Given the description of an element on the screen output the (x, y) to click on. 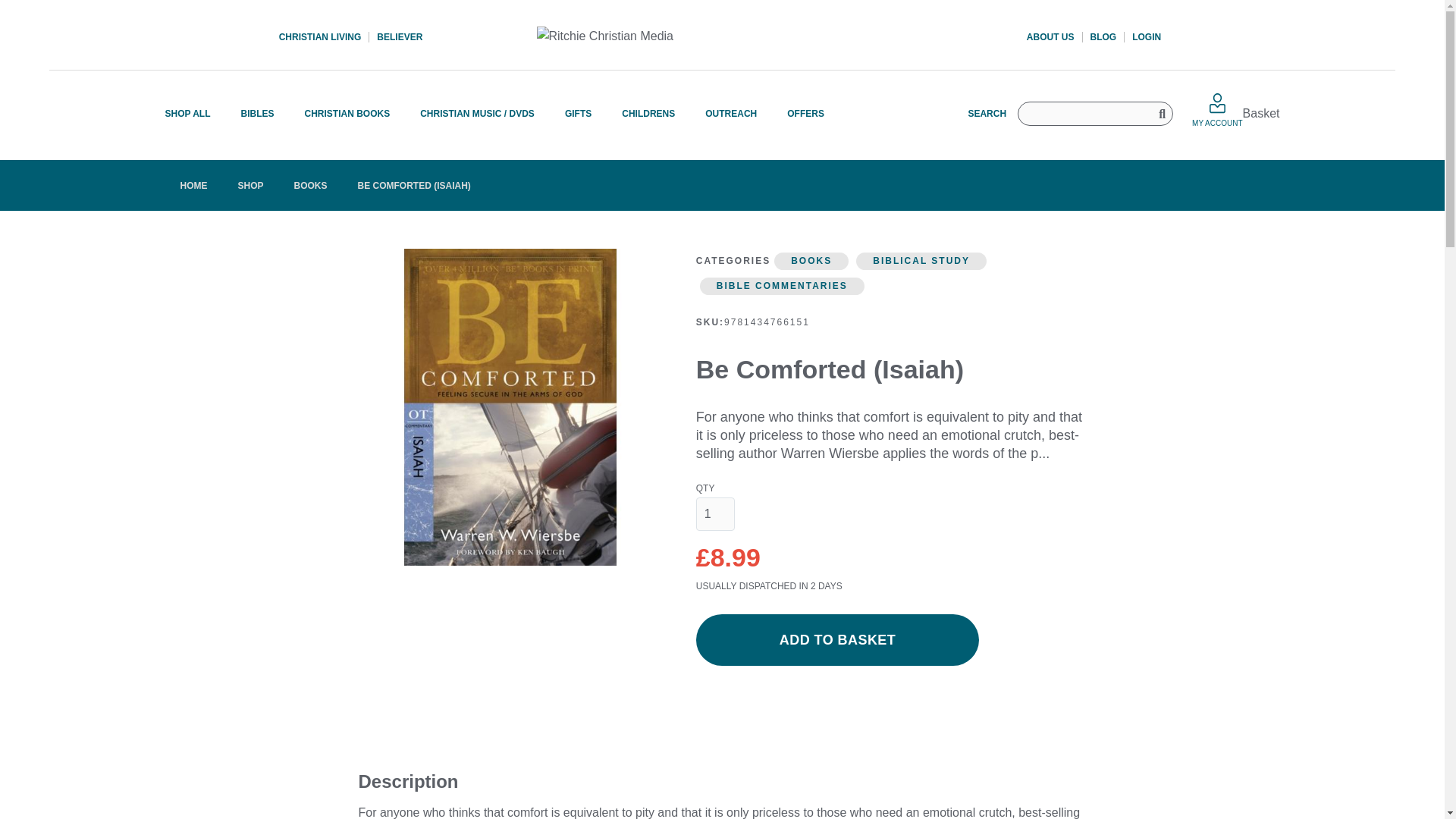
BELIEVER (395, 36)
ABOUT US (1054, 36)
CHRISTIAN BOOKS (347, 113)
BLOG (1104, 36)
OUTREACH (730, 113)
BOOKS (310, 185)
Shop (250, 185)
GIFTS (578, 113)
OFFERS (797, 113)
HOME (194, 185)
BIBLES (257, 113)
Home (194, 185)
Books (310, 185)
SHOP (250, 185)
LOGIN (1142, 36)
